Given the description of an element on the screen output the (x, y) to click on. 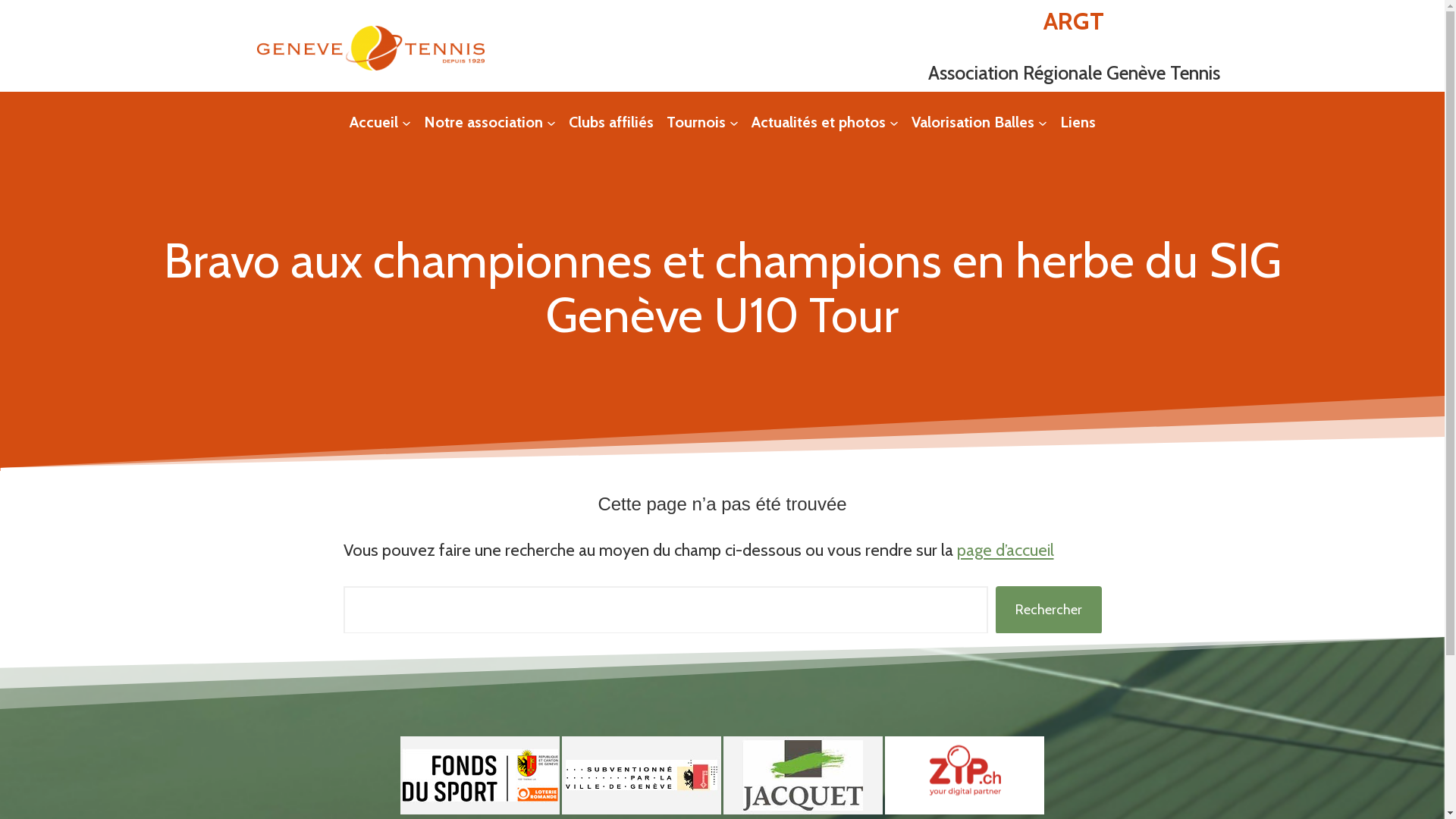
Notre association Element type: text (482, 121)
Rechercher Element type: text (1048, 609)
Valorisation Balles Element type: text (972, 121)
Tournois Element type: text (694, 121)
Accueil Element type: text (372, 121)
ARGT Element type: text (1073, 20)
Liens Element type: text (1077, 121)
